Given the description of an element on the screen output the (x, y) to click on. 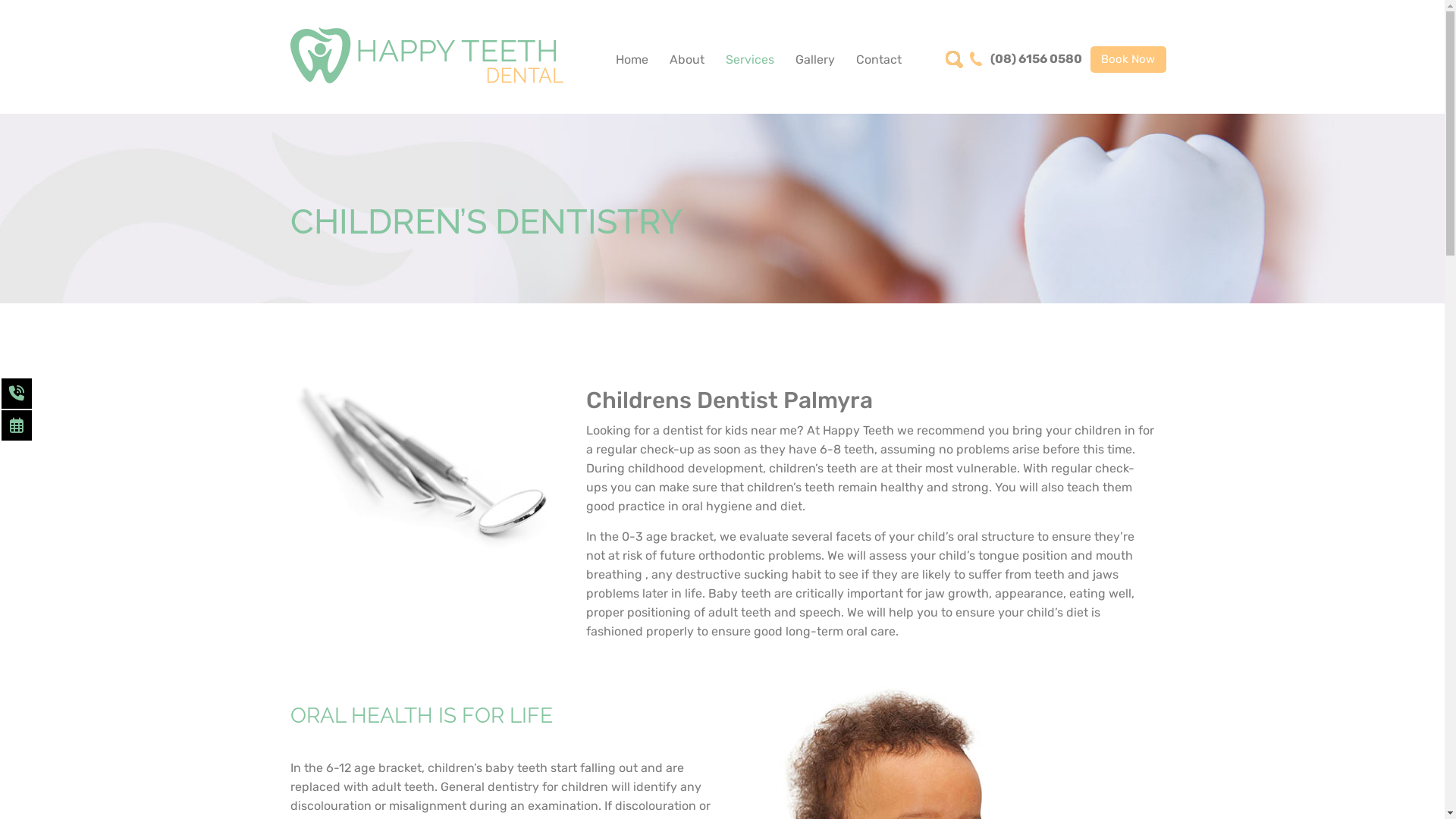
Home Element type: text (631, 59)
(08) 6156 0580 Element type: text (1025, 58)
About Element type: text (686, 59)
Book Now Element type: text (1128, 59)
Contact Element type: text (877, 59)
Services Element type: text (749, 59)
Gallery Element type: text (814, 59)
